Given the description of an element on the screen output the (x, y) to click on. 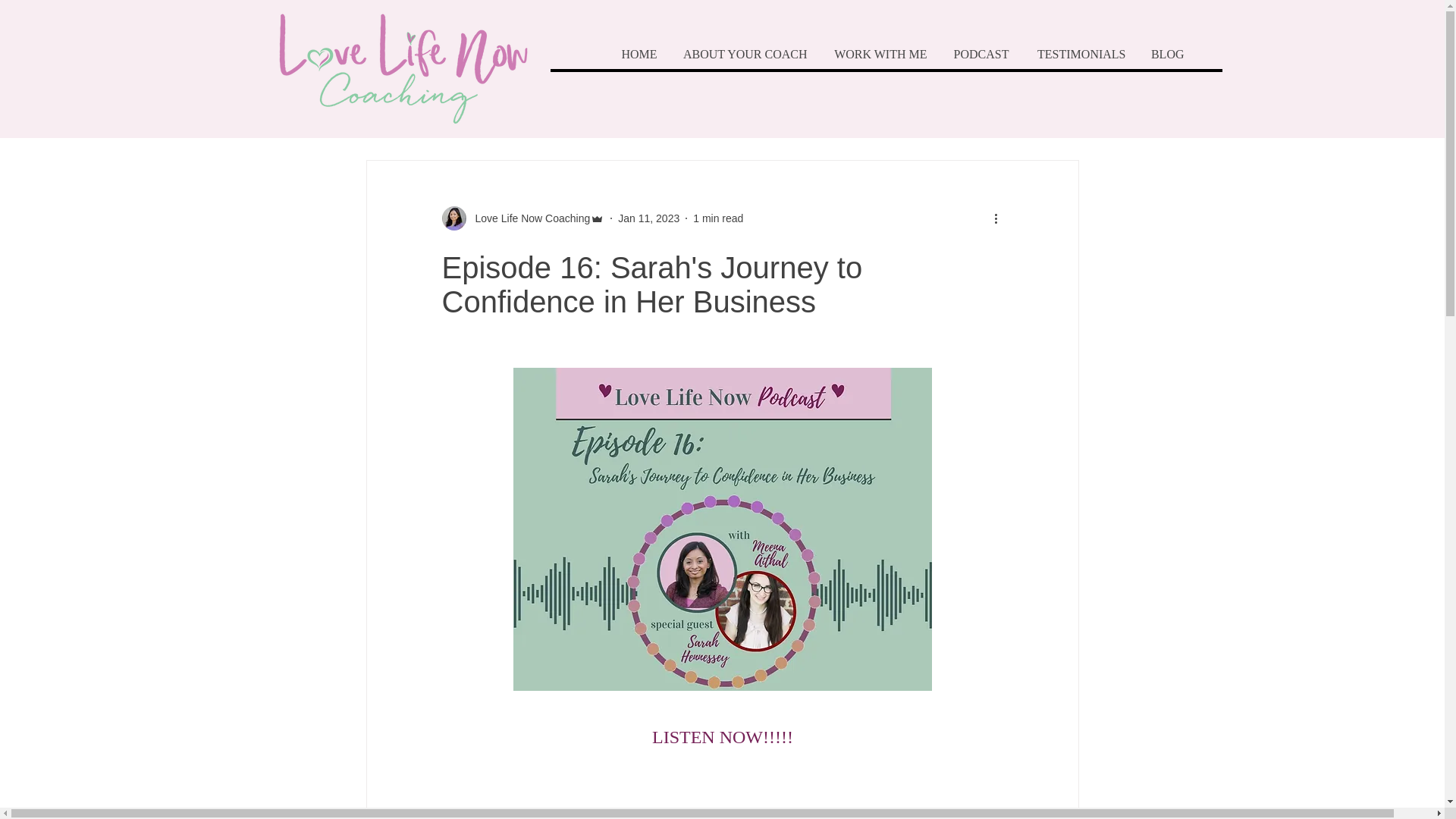
TESTIMONIALS (1078, 54)
ABOUT YOUR COACH (743, 54)
1 min read (717, 218)
BLOG (1166, 54)
Jan 11, 2023 (648, 218)
WORK WITH ME (878, 54)
All Posts (387, 114)
Love Life Now Coaching (522, 218)
Love Life Now Coaching (527, 218)
PODCAST (979, 54)
HOME (637, 54)
